Given the description of an element on the screen output the (x, y) to click on. 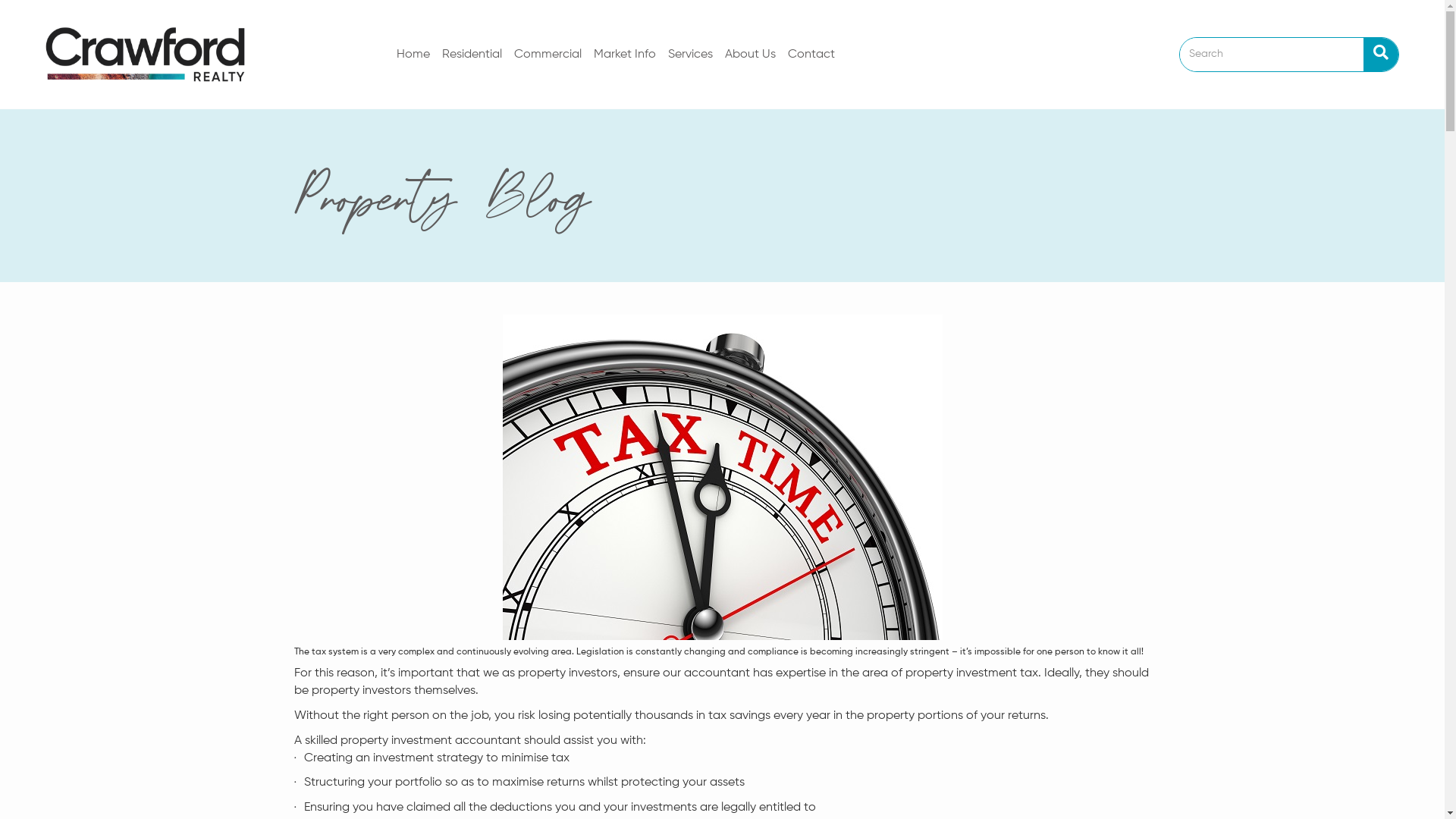
Commercial Element type: text (547, 54)
Residential Element type: text (472, 54)
Market Info Element type: text (624, 54)
Services Element type: text (690, 54)
Home Element type: text (413, 54)
Contact Element type: text (810, 54)
About Us Element type: text (749, 54)
